Given the description of an element on the screen output the (x, y) to click on. 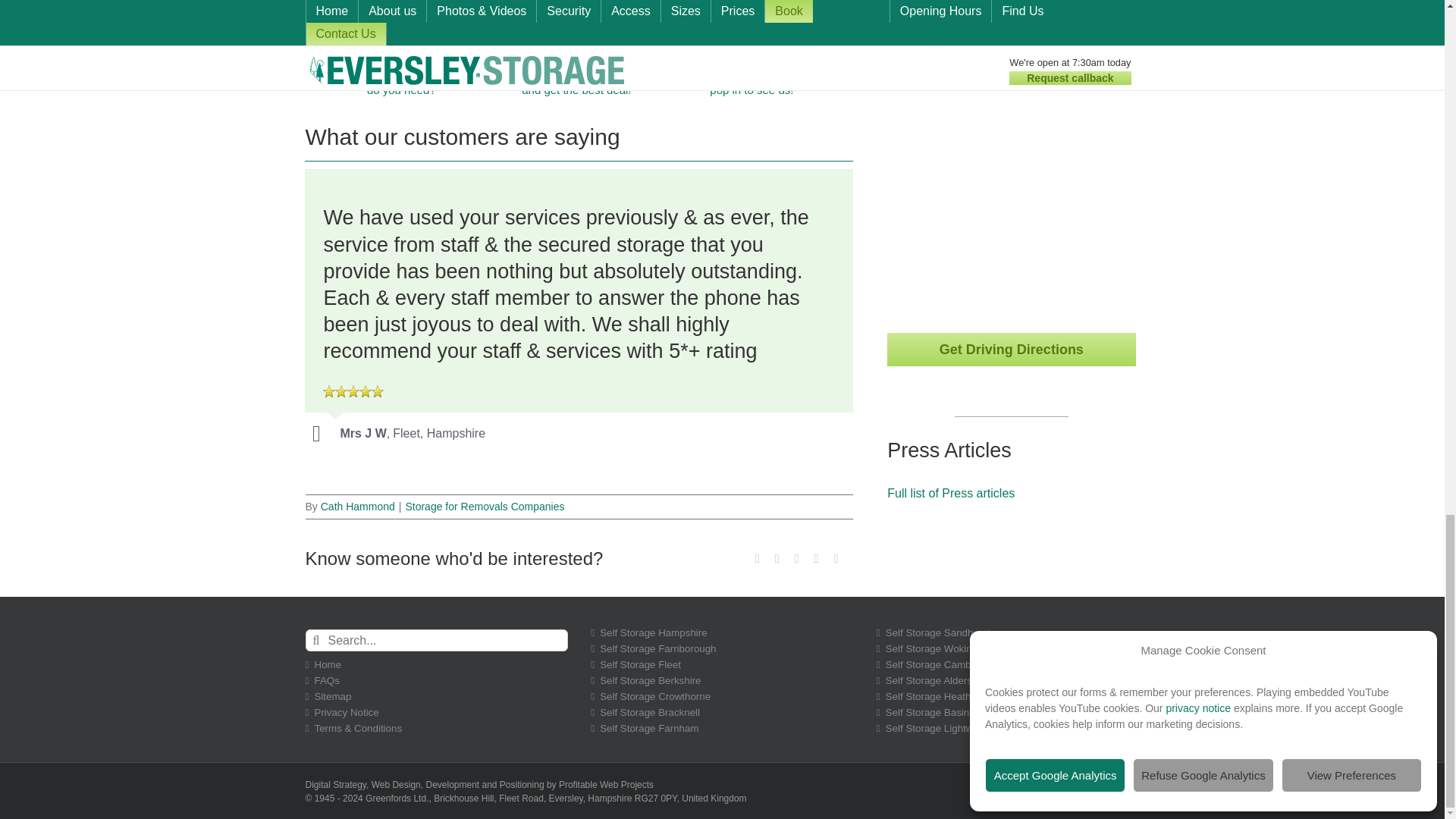
Posts by Cath Hammond (357, 506)
Get Driving Directions (1010, 349)
